Given the description of an element on the screen output the (x, y) to click on. 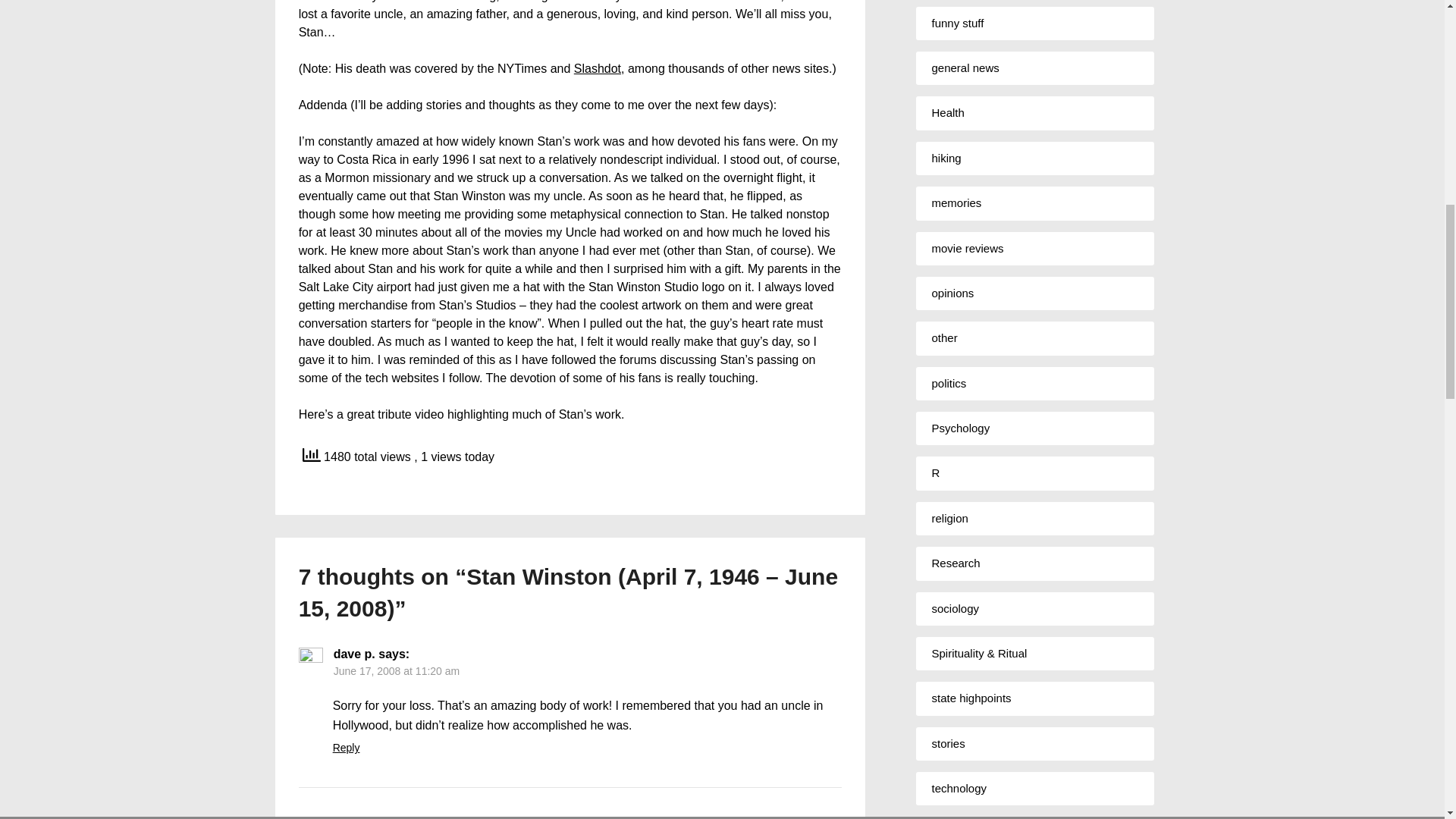
Slashdot (597, 68)
general news (964, 67)
funny stuff (957, 22)
June 17, 2008 at 11:20 am (396, 671)
Reply (346, 747)
